Given the description of an element on the screen output the (x, y) to click on. 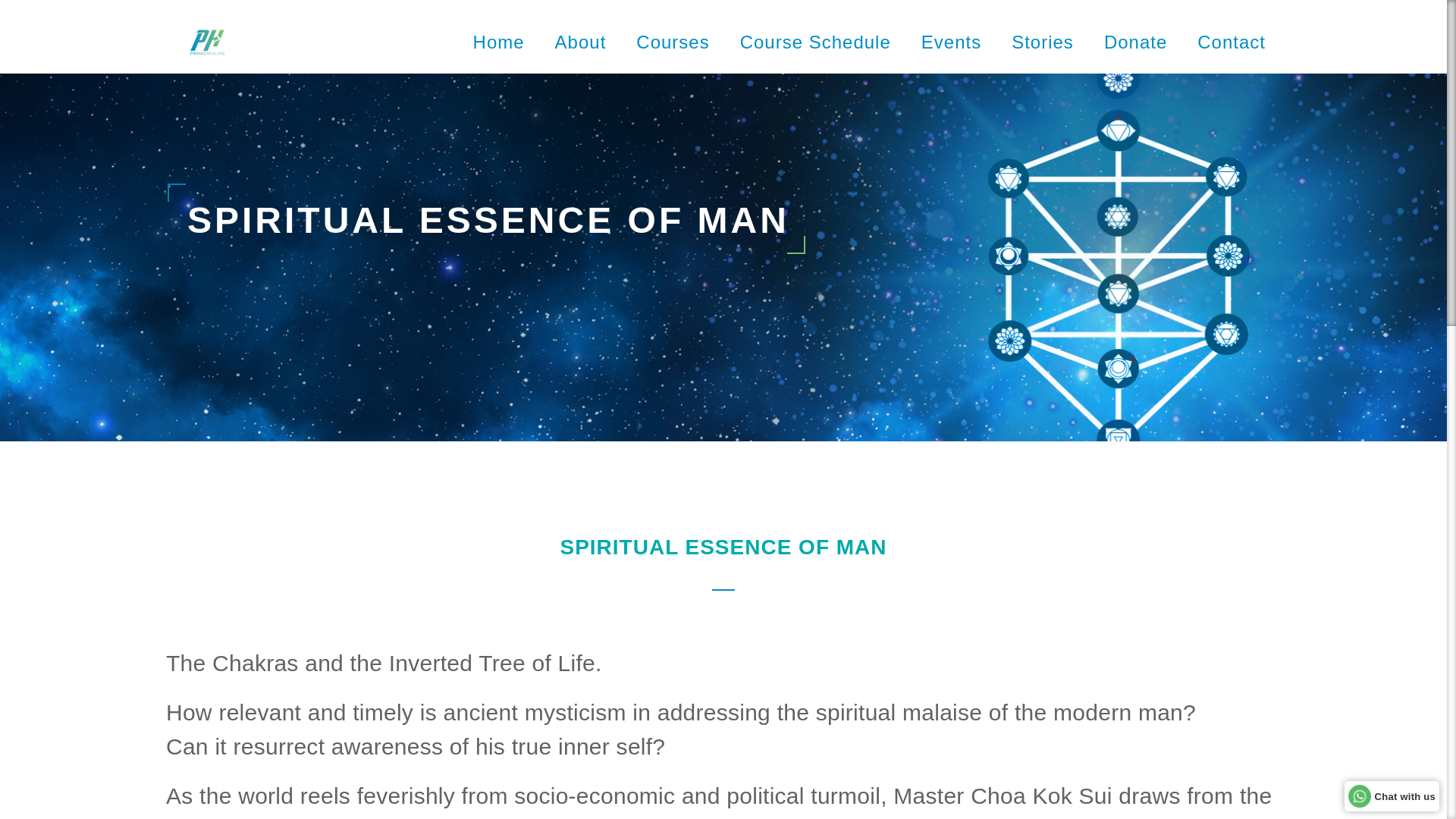
Stories (1042, 42)
Chat with us (1391, 795)
Home (498, 42)
Events (951, 42)
Course Schedule (815, 42)
Contact (1230, 42)
About (580, 42)
Courses (672, 42)
Donate (1135, 42)
